Given the description of an element on the screen output the (x, y) to click on. 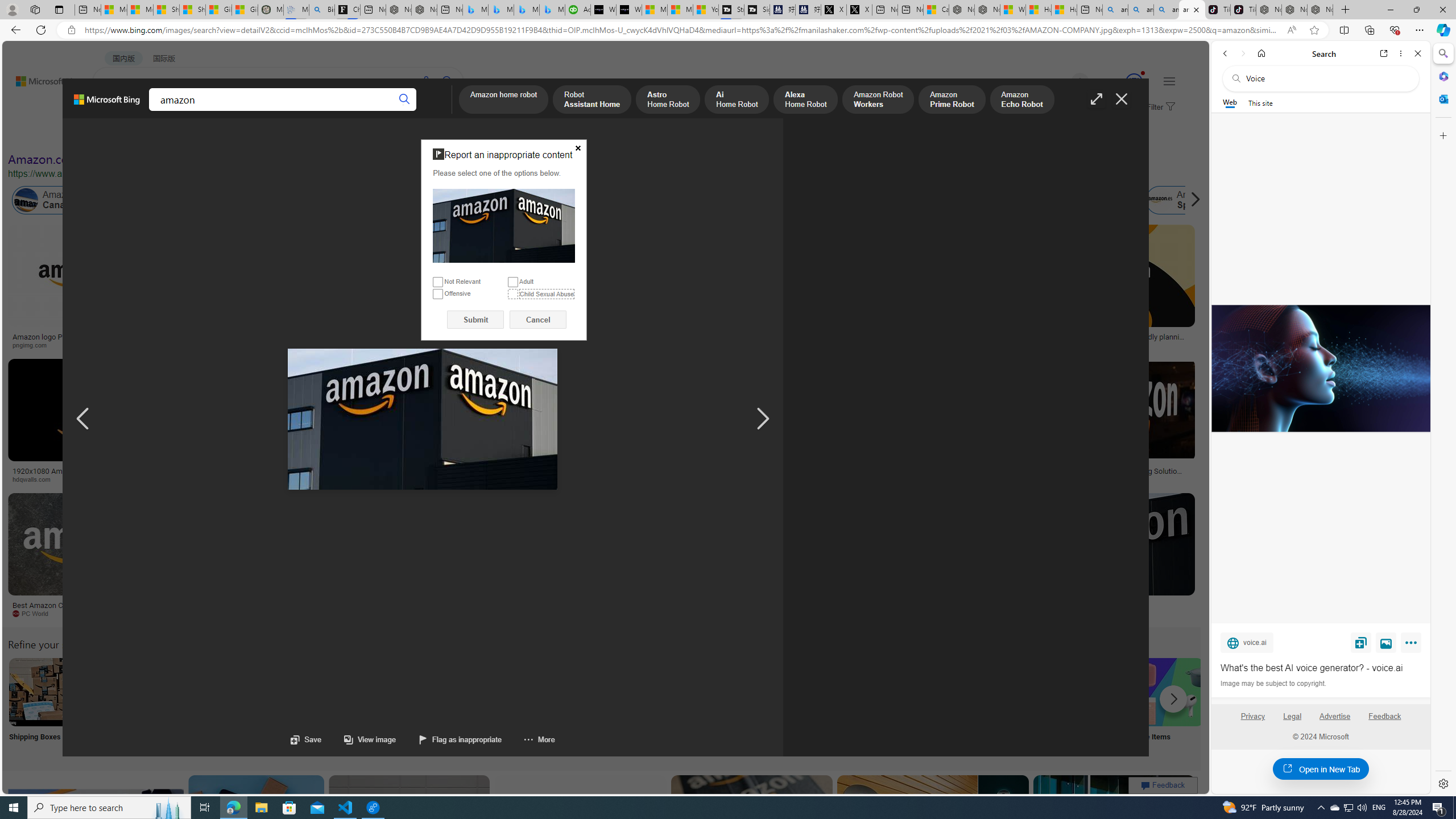
Amazon.com. Spend less. Smile more. (110, 158)
Amazon Prime Membership (753, 200)
theverge.com (1068, 344)
Legal (1292, 720)
Gilma and Hector both pose tropical trouble for Hawaii (244, 9)
Class: medal-circled (1133, 81)
Date (336, 135)
Amazon home robot (503, 100)
Package Delivery (418, 706)
Online Shopping Search (118, 706)
Microsoft Bing Travel - Shangri-La Hotel Bangkok (551, 9)
